Given the description of an element on the screen output the (x, y) to click on. 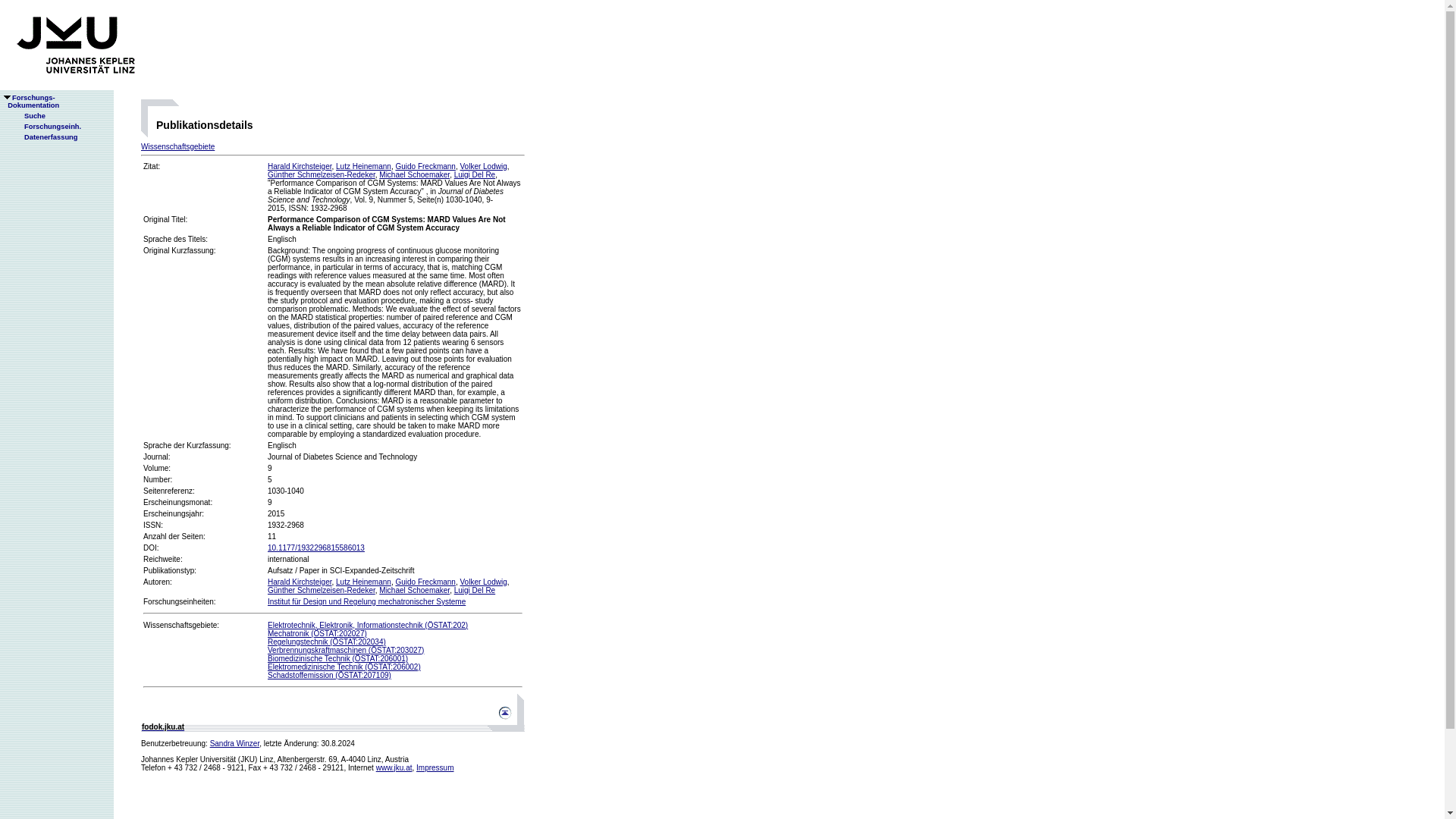
Lutz Heinemann (363, 582)
Luigi Del Re (474, 174)
fodok.jku.at (162, 726)
Wissenschaftsgebiete: (180, 624)
Lutz Heinemann (363, 166)
www.jku.at (393, 767)
Harald Kirchsteiger (299, 166)
Wissenschaftsgebiete (177, 146)
Suche (28, 115)
Impressum (434, 767)
